Given the description of an element on the screen output the (x, y) to click on. 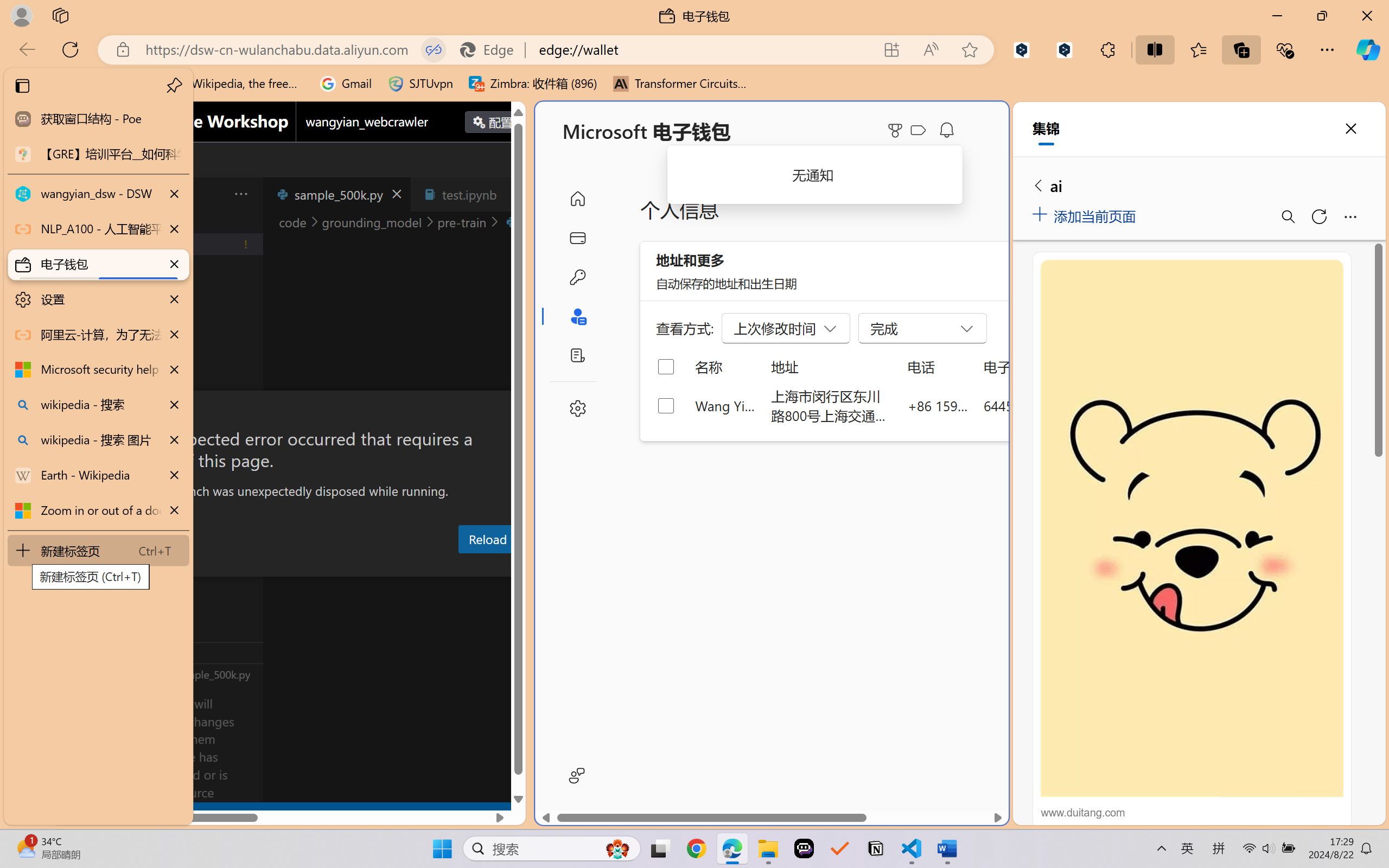
test.ipynb (468, 194)
Close Dialog (520, 410)
Run and Debug (Ctrl+Shift+D) (73, 375)
remote (66, 812)
+86 159 0032 4640 (938, 405)
